Given the description of an element on the screen output the (x, y) to click on. 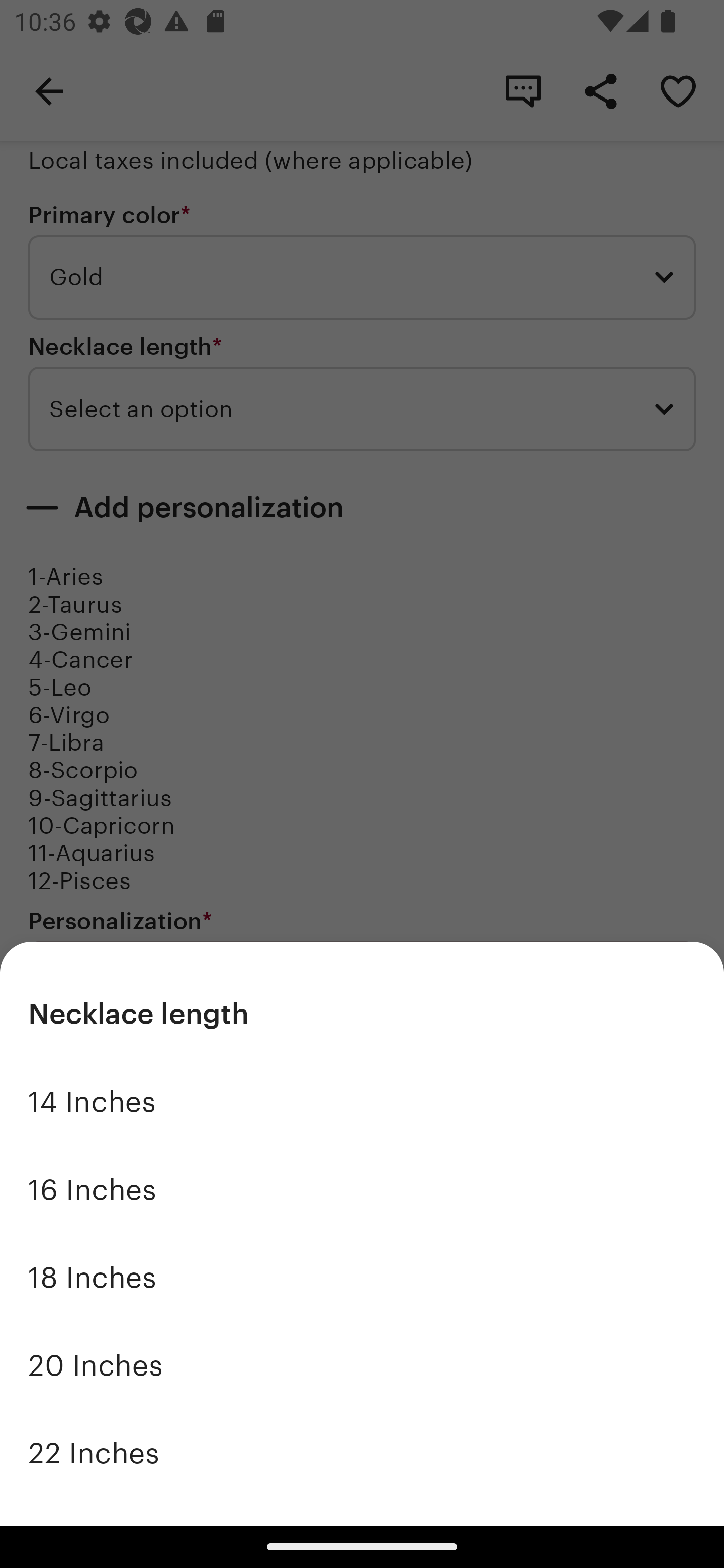
14 Inches (362, 1102)
16 Inches (362, 1190)
18 Inches (362, 1277)
20 Inches (362, 1365)
22 Inches (362, 1453)
